Given the description of an element on the screen output the (x, y) to click on. 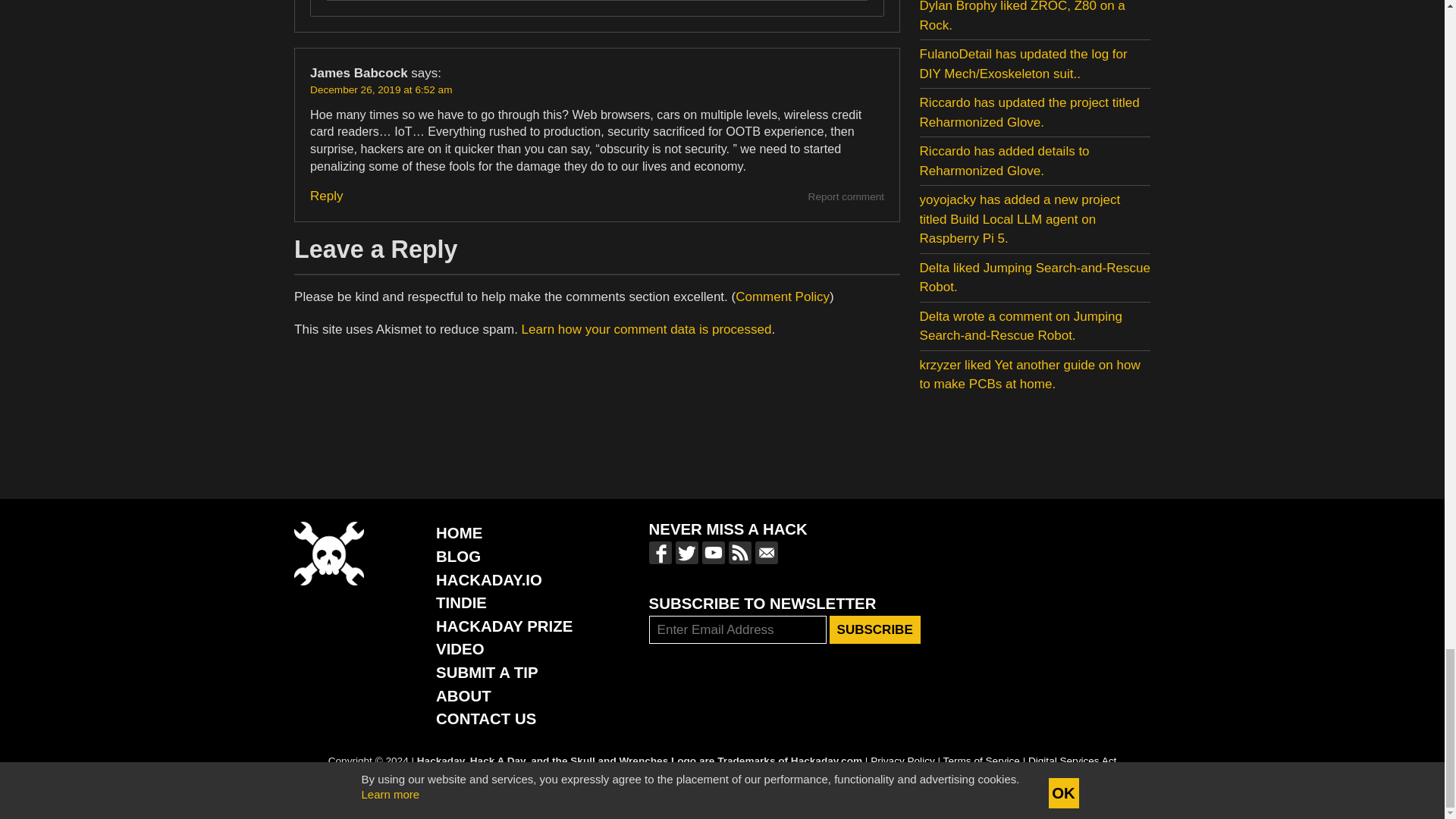
Subscribe (874, 629)
